Given the description of an element on the screen output the (x, y) to click on. 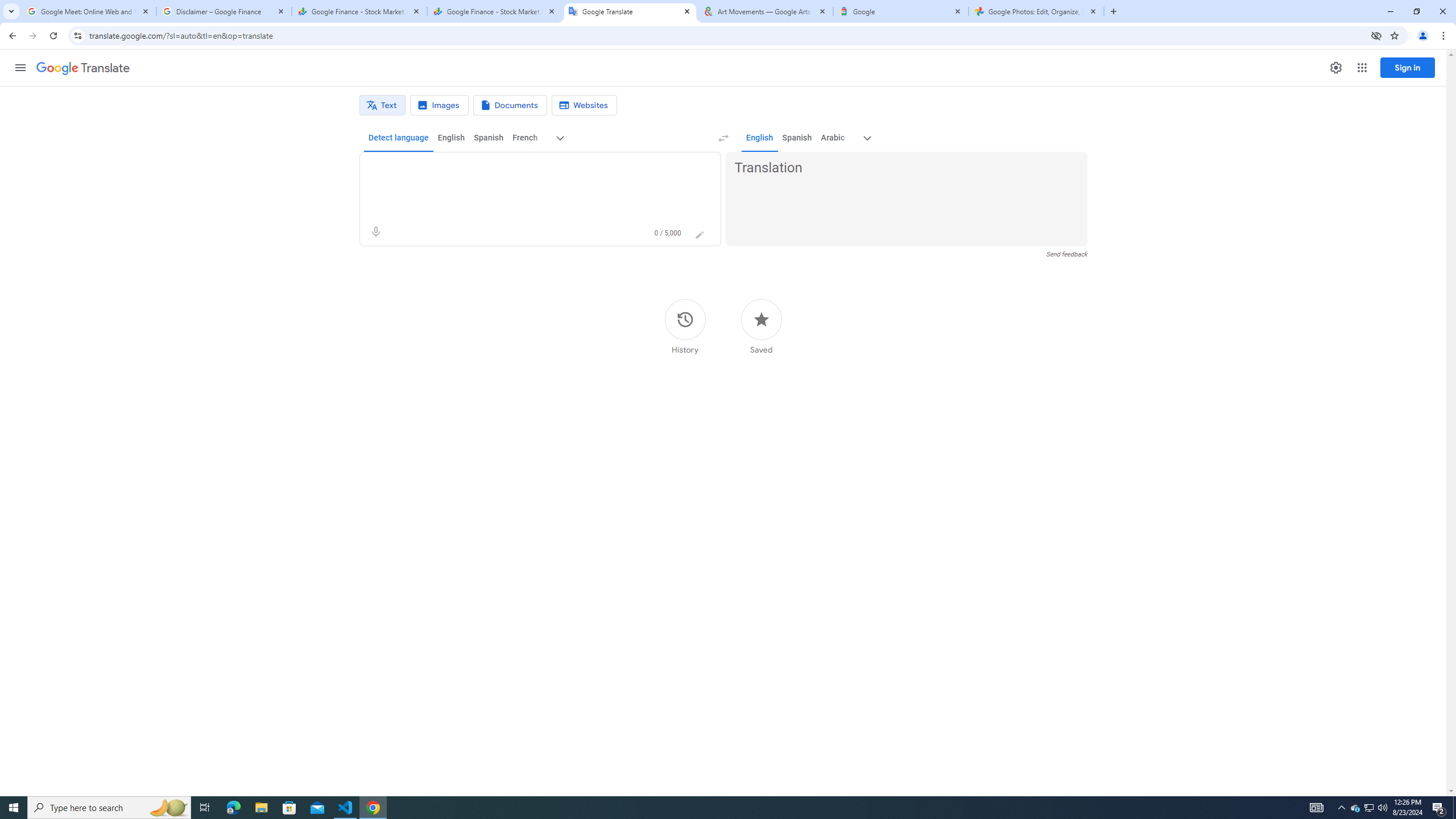
Document translation (510, 105)
Website translation (584, 105)
History (684, 326)
Source text (529, 167)
Send feedback (1066, 253)
Arabic (832, 137)
